Given the description of an element on the screen output the (x, y) to click on. 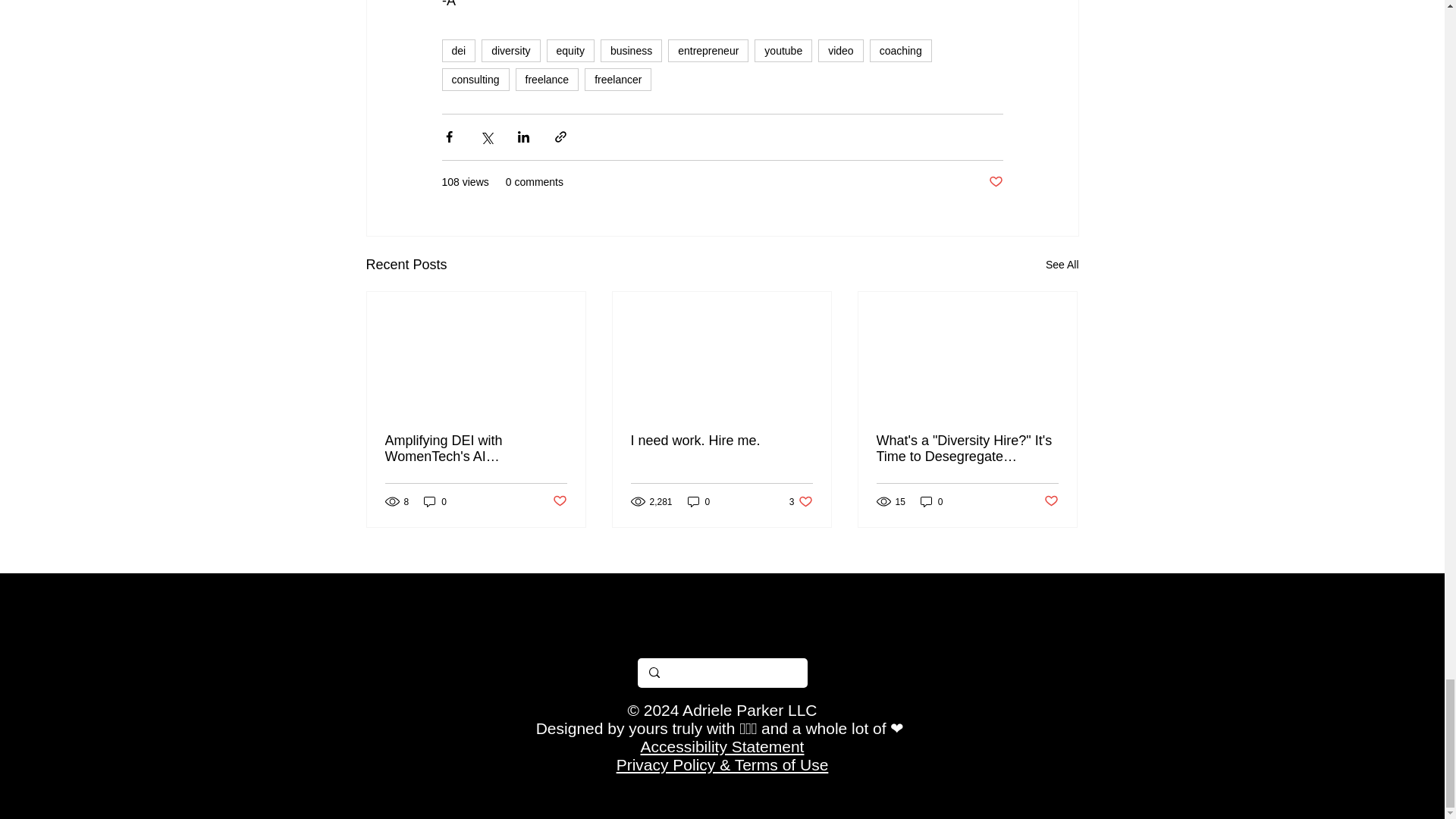
youtube (783, 50)
See All (1061, 264)
video (840, 50)
0 (800, 501)
consulting (435, 501)
dei (474, 78)
freelancer (458, 50)
I need work. Hire me. (617, 78)
0 (721, 439)
business (931, 501)
equity (630, 50)
0 (570, 50)
diversity (698, 501)
